Given the description of an element on the screen output the (x, y) to click on. 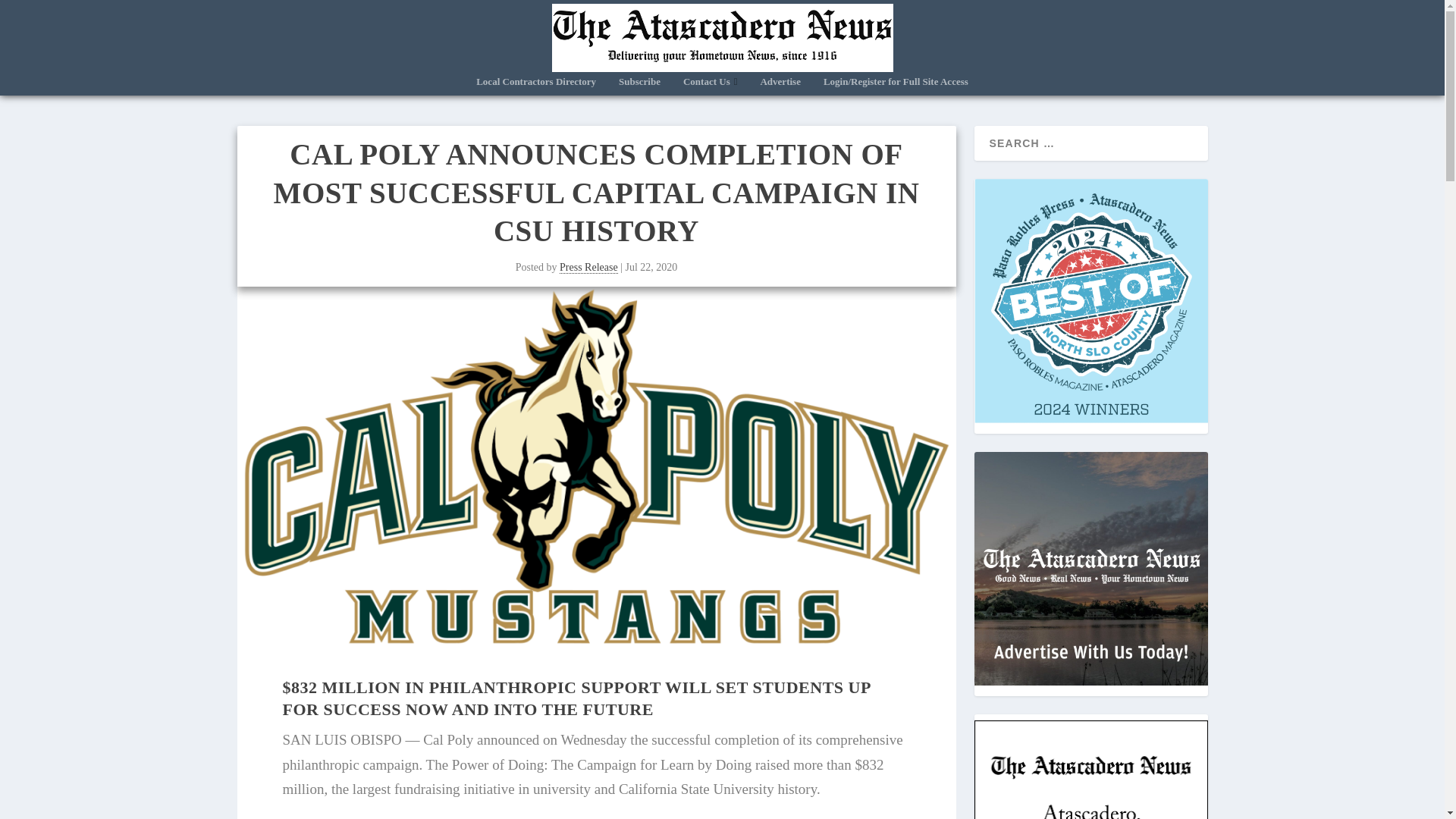
Local Contractors Directory (535, 85)
Subscribe (639, 85)
Posts by Press Release (588, 267)
Contact Us (710, 85)
Search (31, 11)
Advertise (779, 85)
Press Release (588, 267)
